Given the description of an element on the screen output the (x, y) to click on. 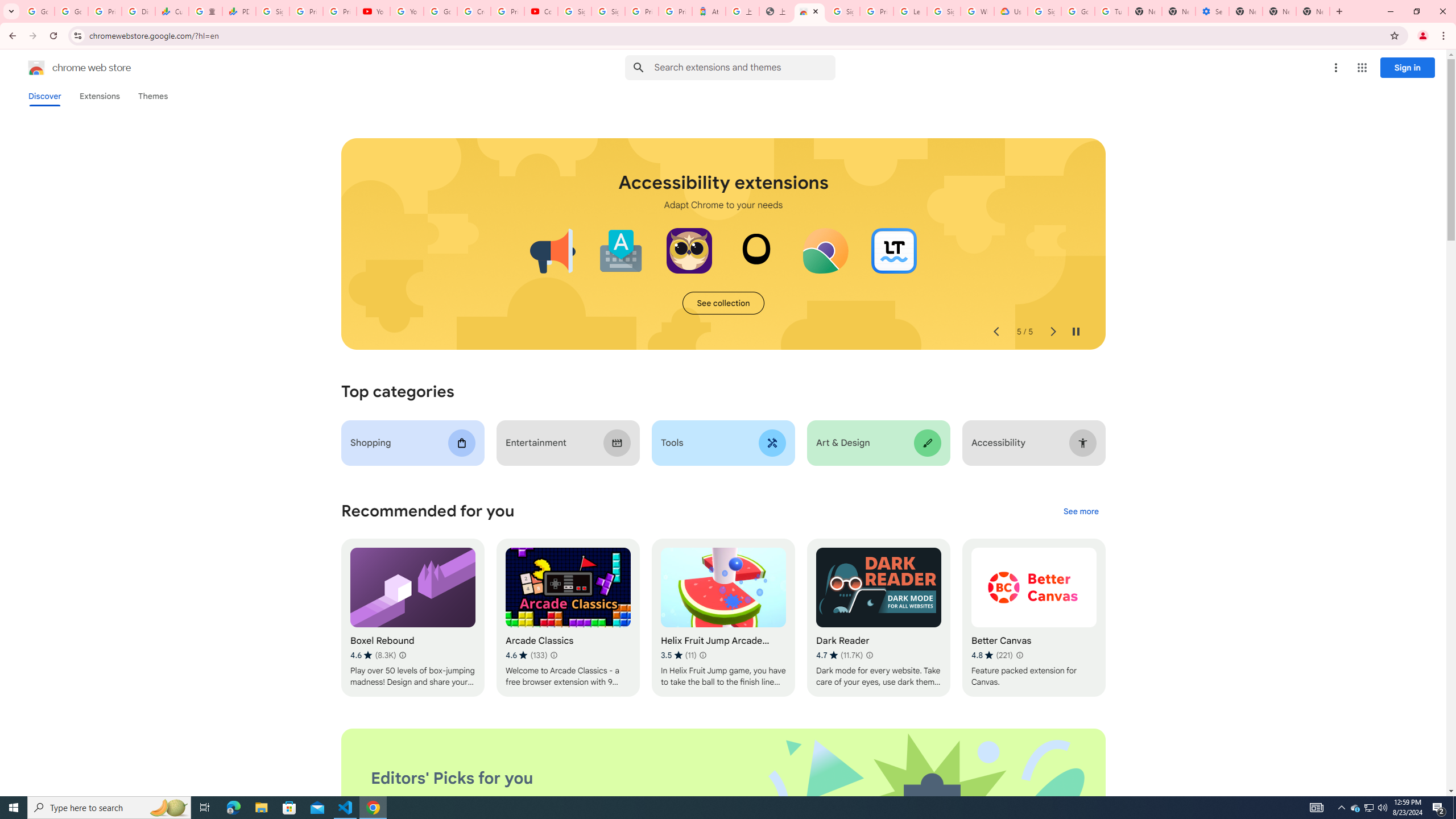
Previous slide (995, 331)
Accessibility (1033, 443)
Google Account Help (1077, 11)
Bookmark this tab (1393, 35)
Entertainment (567, 443)
Sign in - Google Accounts (272, 11)
Currencies - Google Finance (171, 11)
Chrome Web Store (809, 11)
Reload (52, 35)
Average rating 3.5 out of 5 stars. 11 ratings. (679, 655)
New Tab (1313, 11)
Forward (32, 35)
More options menu (1335, 67)
